Given the description of an element on the screen output the (x, y) to click on. 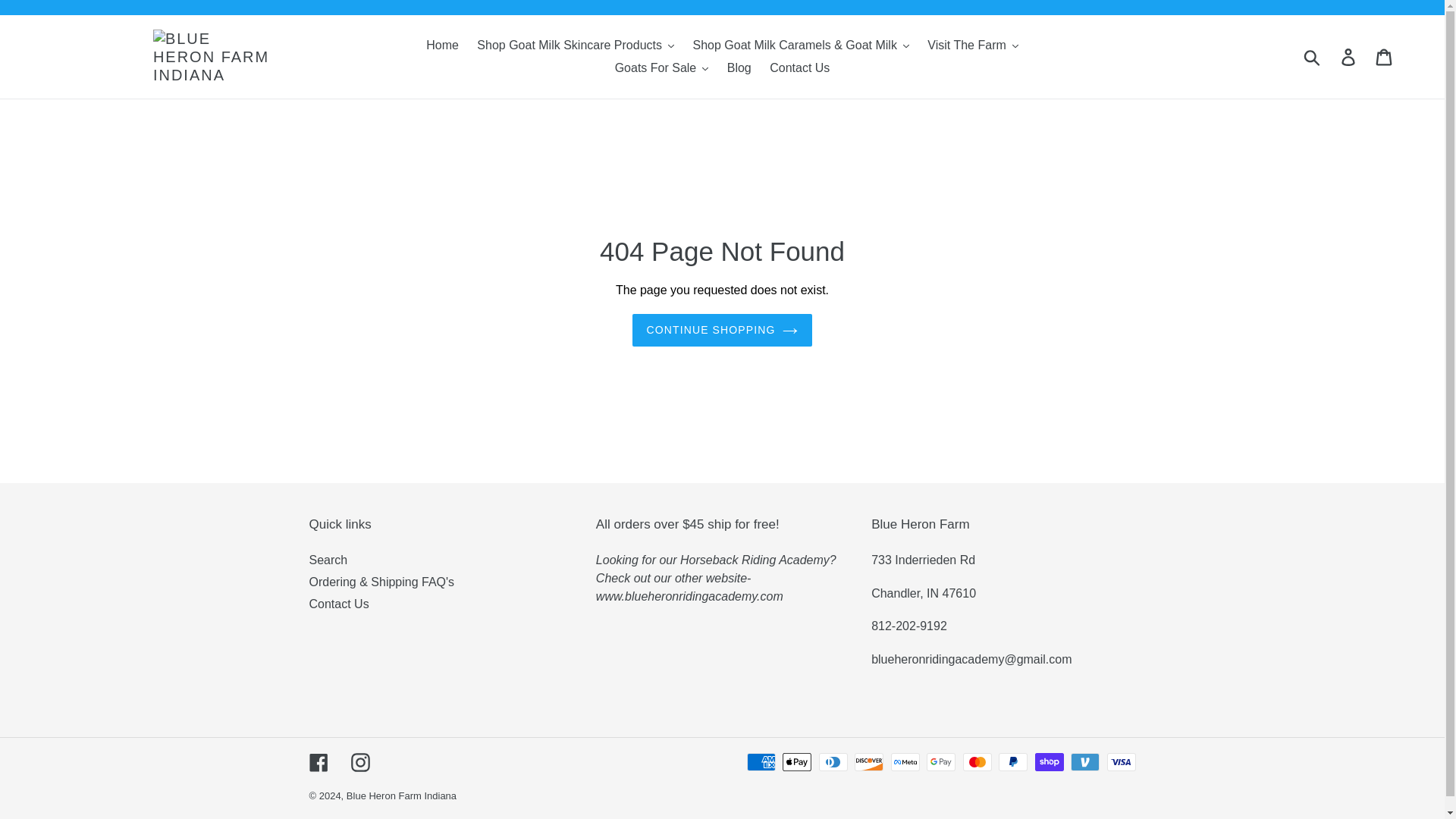
Contact Us (799, 67)
Blog (738, 67)
Cart (1385, 56)
Log in (1349, 56)
Submit (1313, 56)
Home (442, 45)
